Given the description of an element on the screen output the (x, y) to click on. 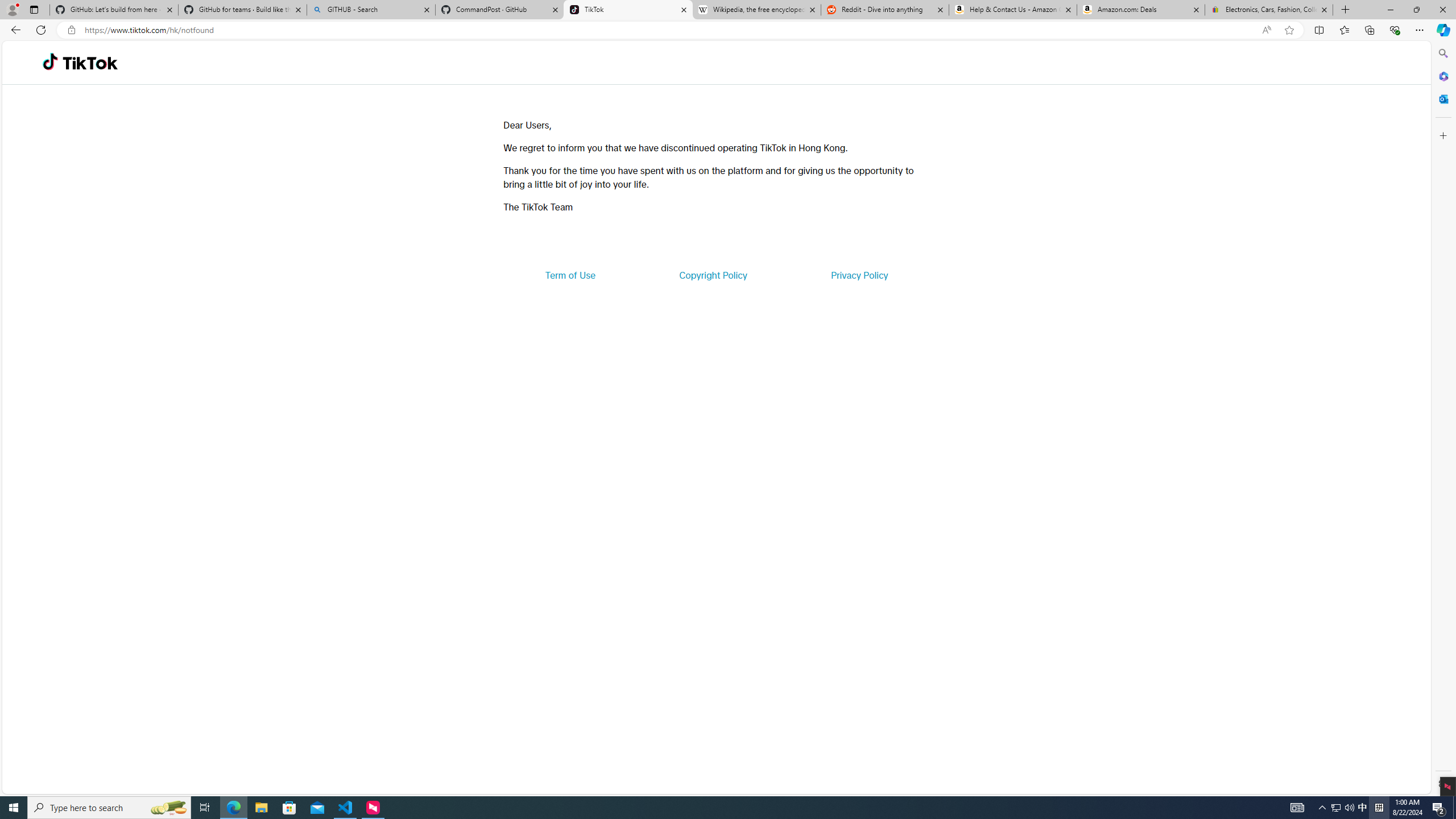
Amazon.com: Deals (1140, 9)
Term of Use (569, 274)
Copyright Policy (712, 274)
